Given the description of an element on the screen output the (x, y) to click on. 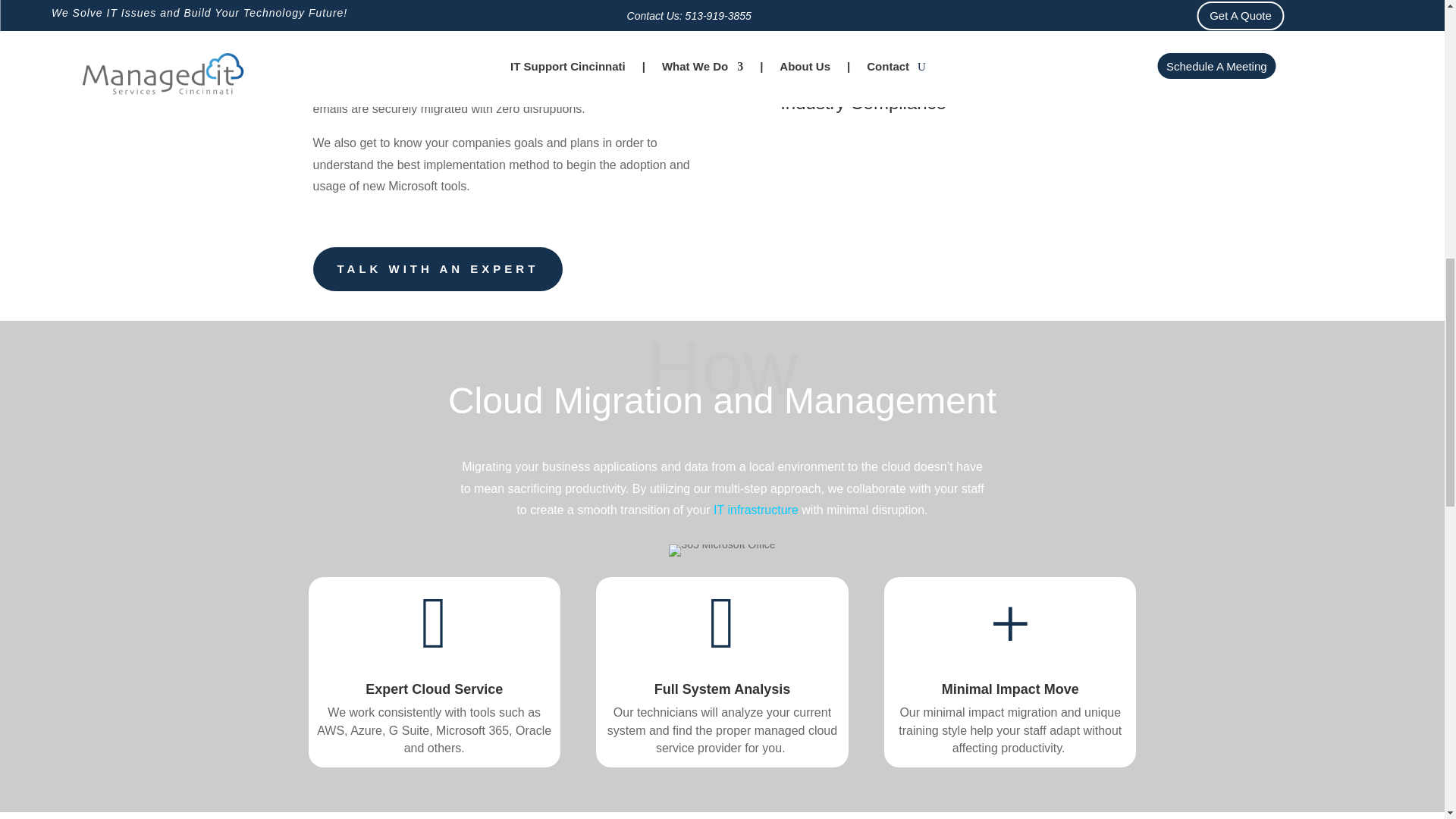
IT infrastructure (755, 509)
IT Support (755, 509)
Office 365 Cincinnati OH (721, 550)
TALK WITH AN EXPERT (437, 269)
